Given the description of an element on the screen output the (x, y) to click on. 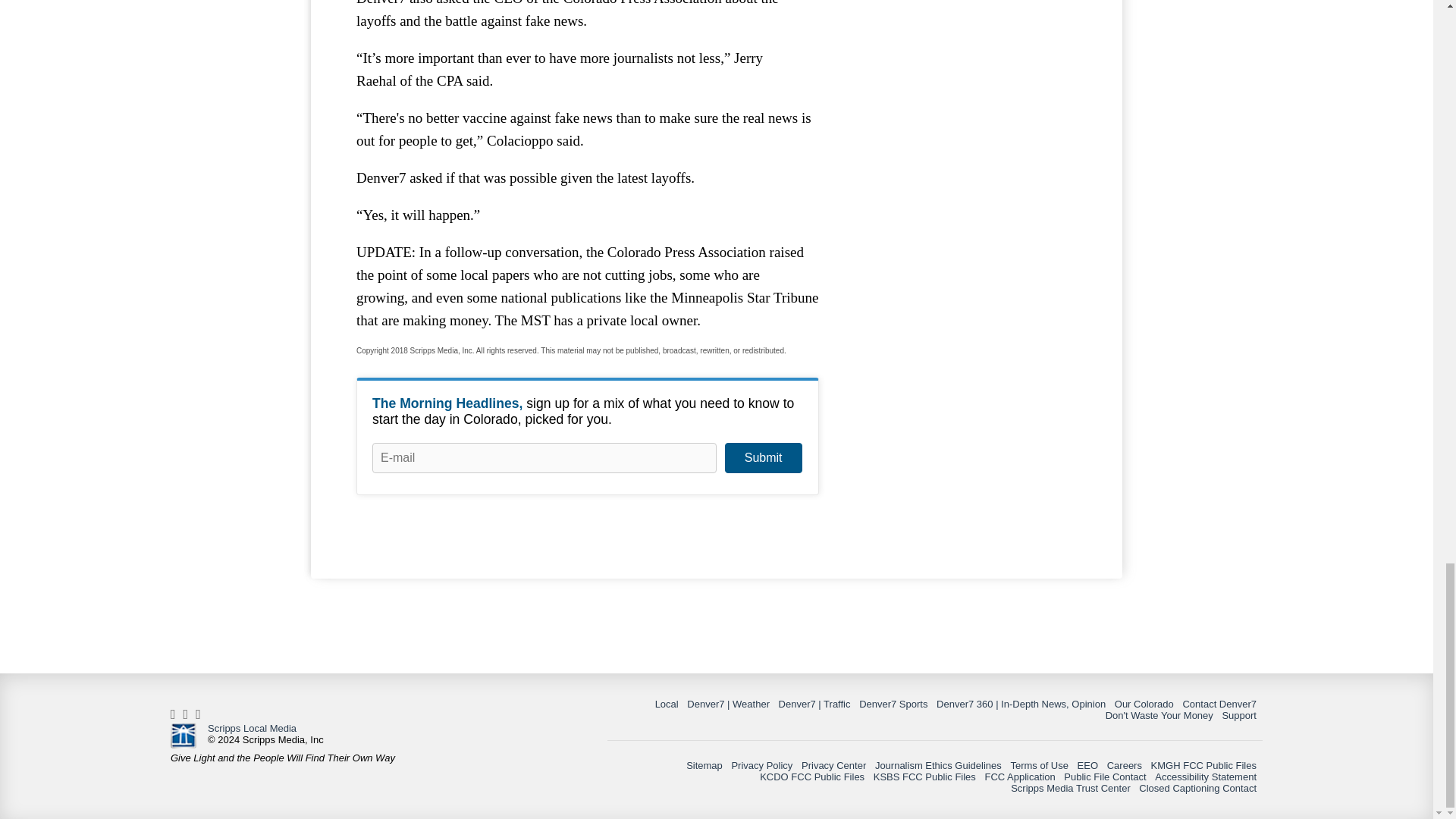
Submit (763, 458)
